Given the description of an element on the screen output the (x, y) to click on. 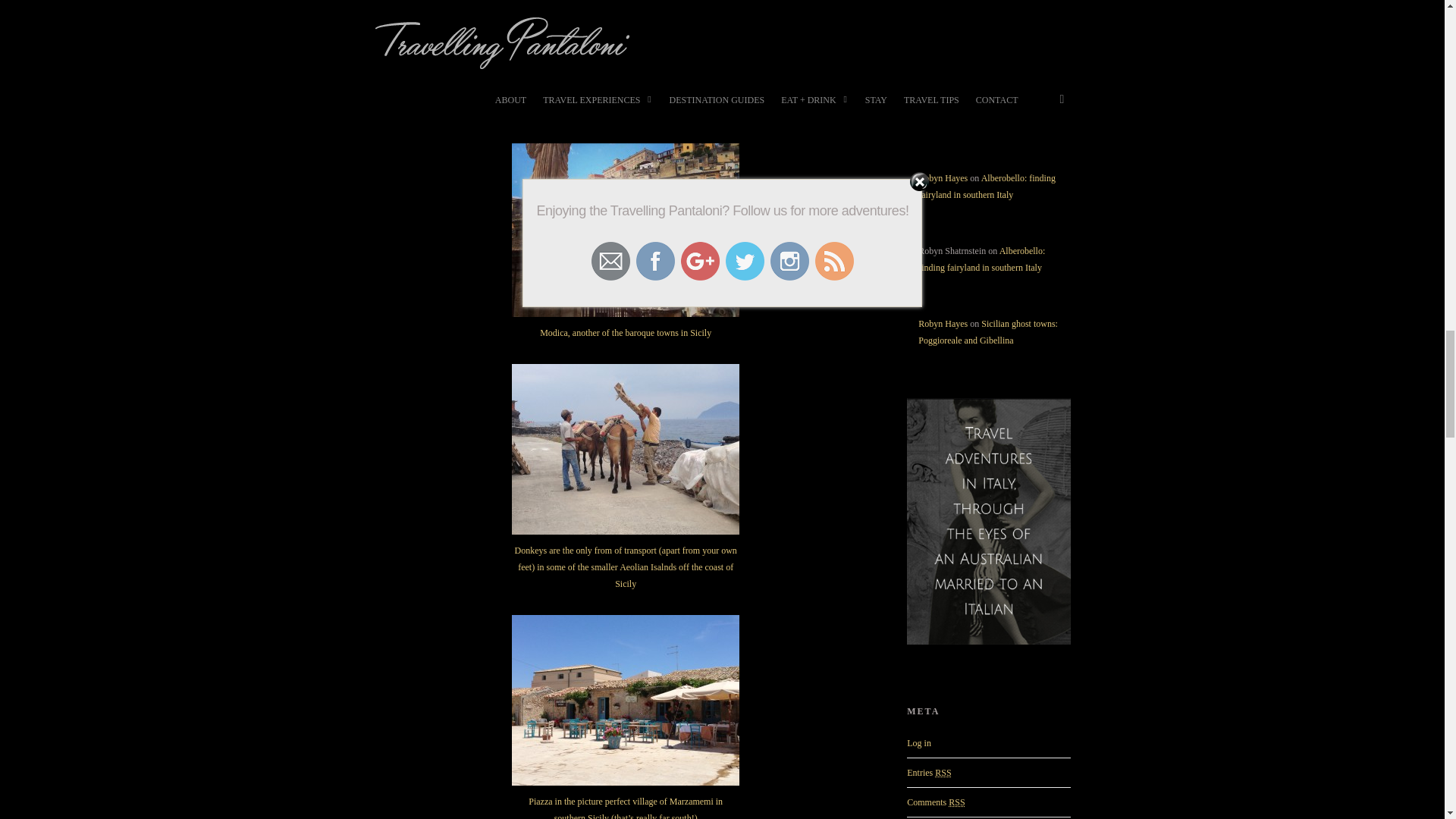
Really Simple Syndication (942, 772)
Really Simple Syndication (956, 801)
